Given the description of an element on the screen output the (x, y) to click on. 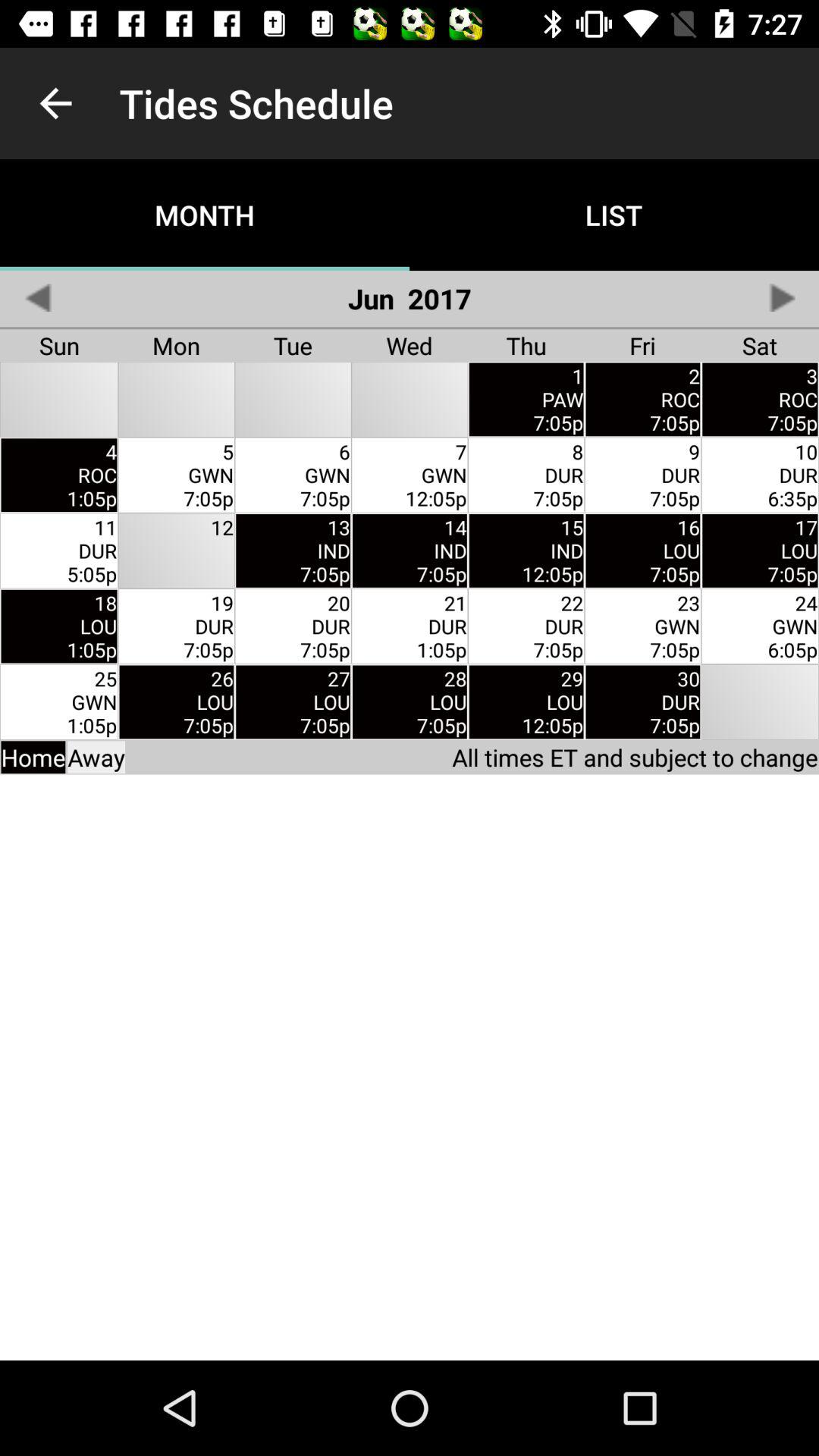
previous page (37, 297)
